Given the description of an element on the screen output the (x, y) to click on. 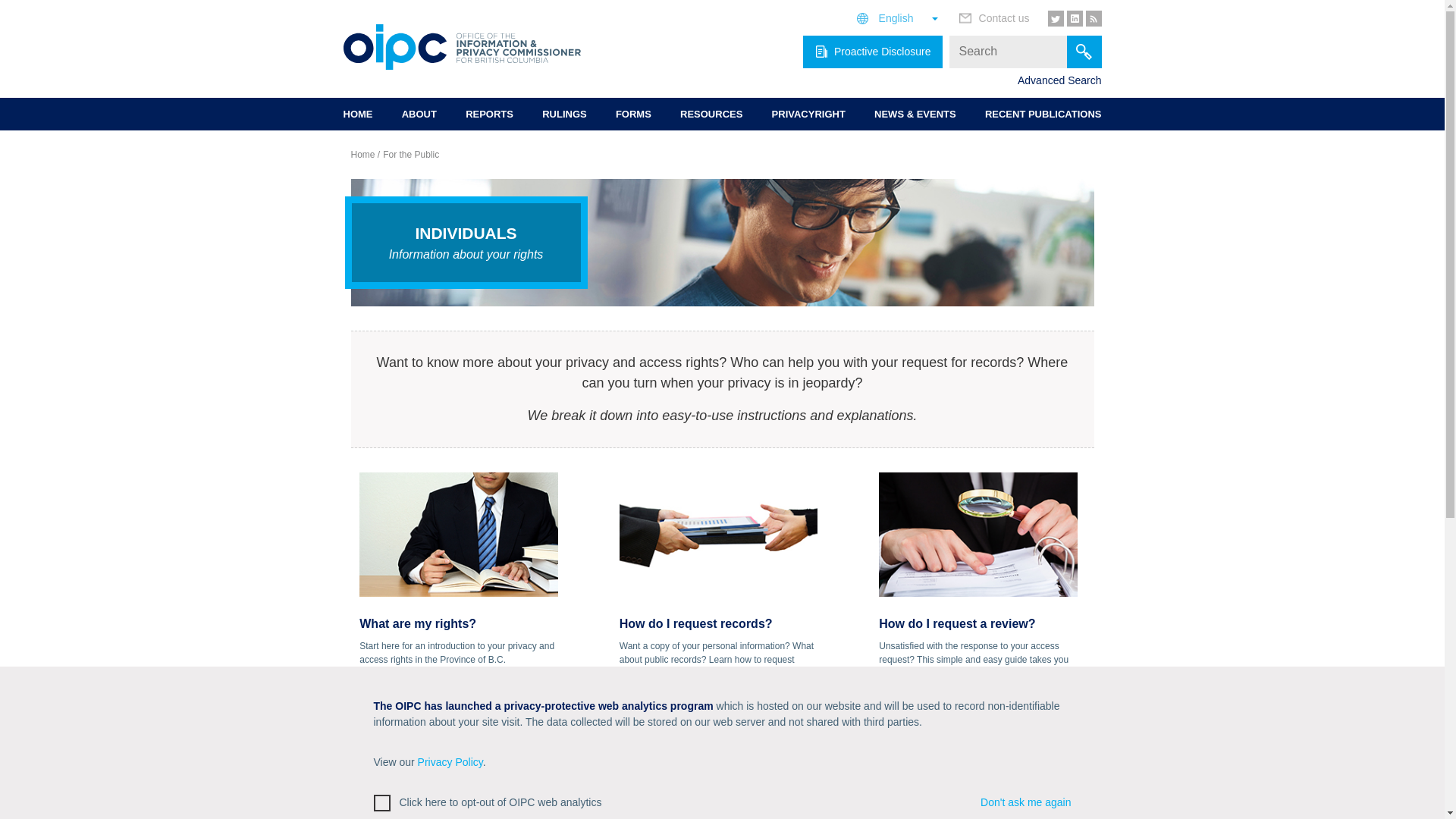
Search (1082, 51)
Search (1082, 51)
RULINGS (563, 113)
ABOUT (418, 113)
RESOURCES (710, 113)
Advanced Search (1059, 80)
Proactive Disclosure (872, 51)
RSS (1094, 18)
FORMS (632, 113)
REPORTS (489, 113)
